Given the description of an element on the screen output the (x, y) to click on. 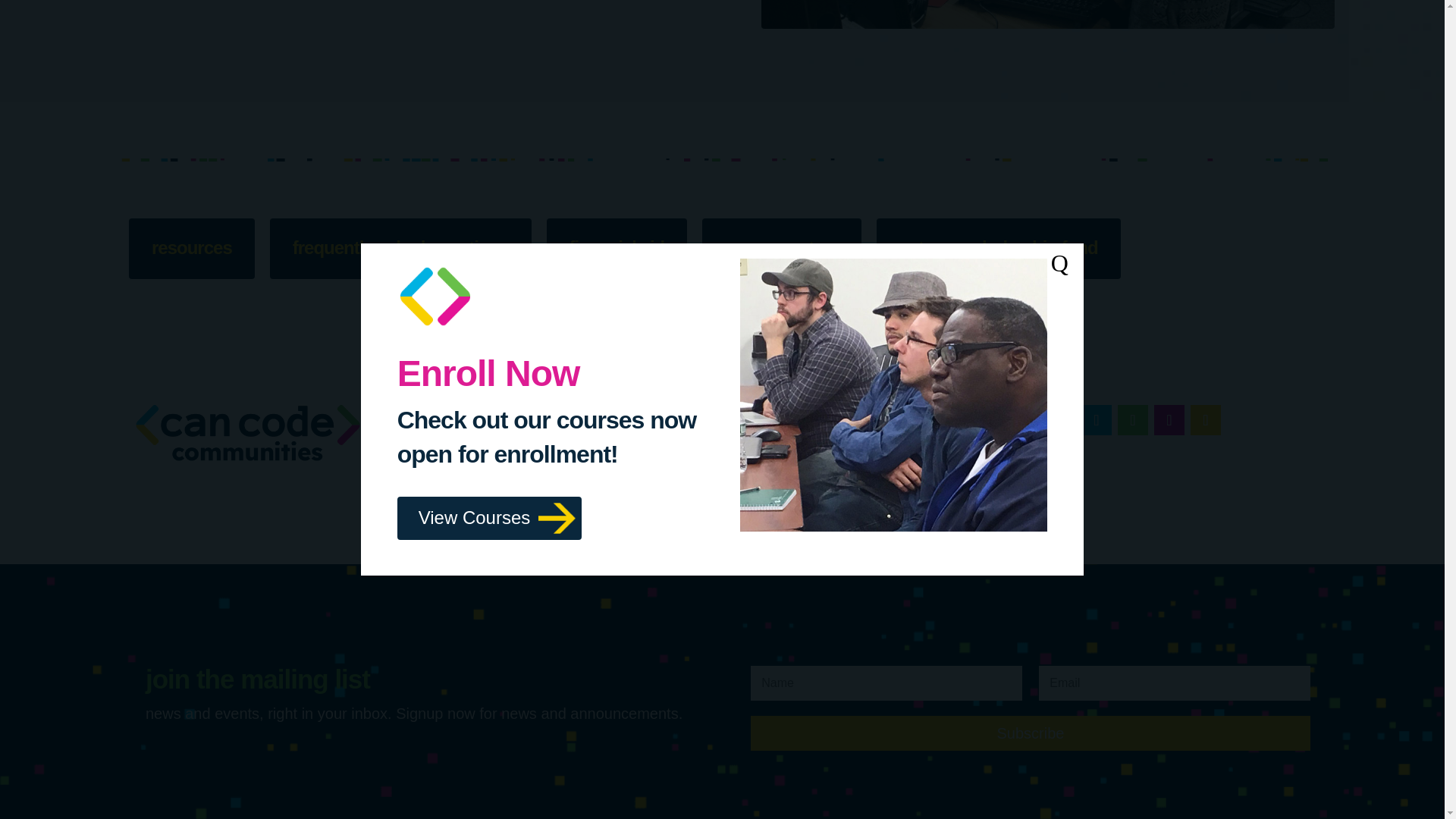
Follow on X (1169, 419)
Follow on LinkedIn (1133, 419)
Follow on Facebook (1096, 419)
Follow on Instagram (1206, 419)
gathering-around-computer-800x550 (1048, 14)
